Given the description of an element on the screen output the (x, y) to click on. 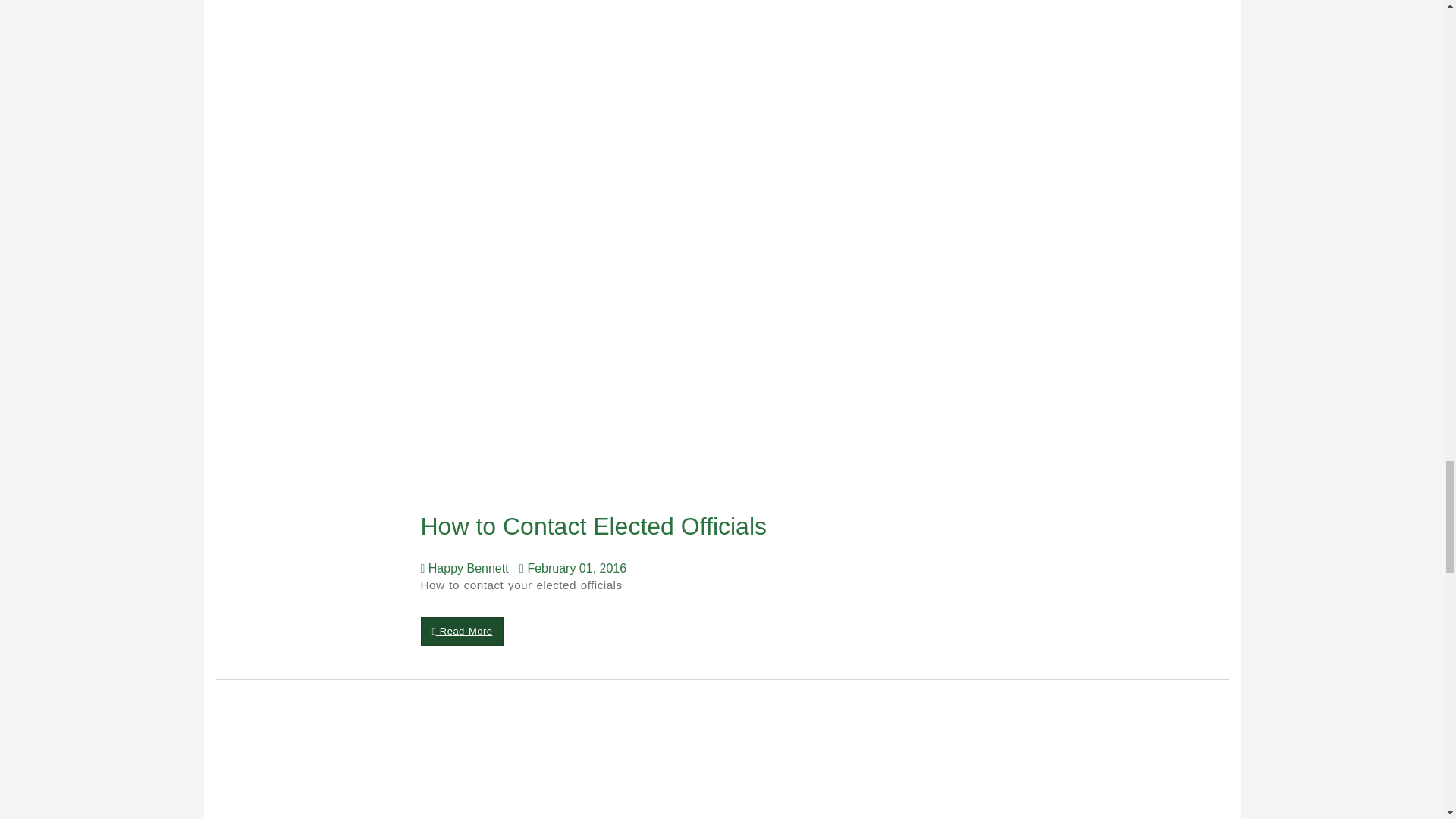
How to Contact Elected Officials (597, 525)
Happy Bennett (467, 567)
February 01, 2016 (576, 567)
Posts by Happy Bennett (467, 567)
Read More (461, 631)
